Given the description of an element on the screen output the (x, y) to click on. 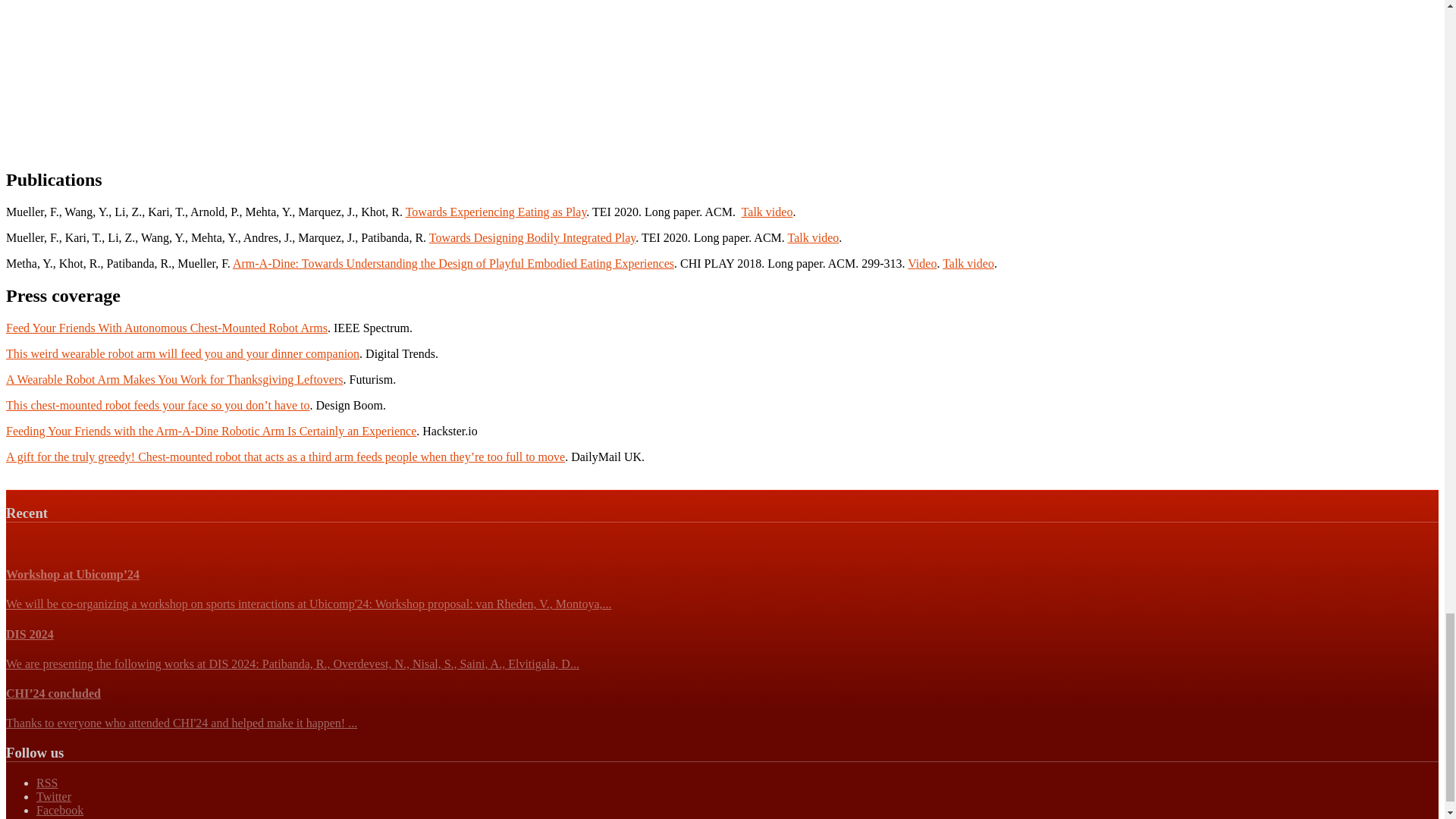
RSS Feed (47, 782)
Twitter (53, 796)
Facebook (59, 809)
